Given the description of an element on the screen output the (x, y) to click on. 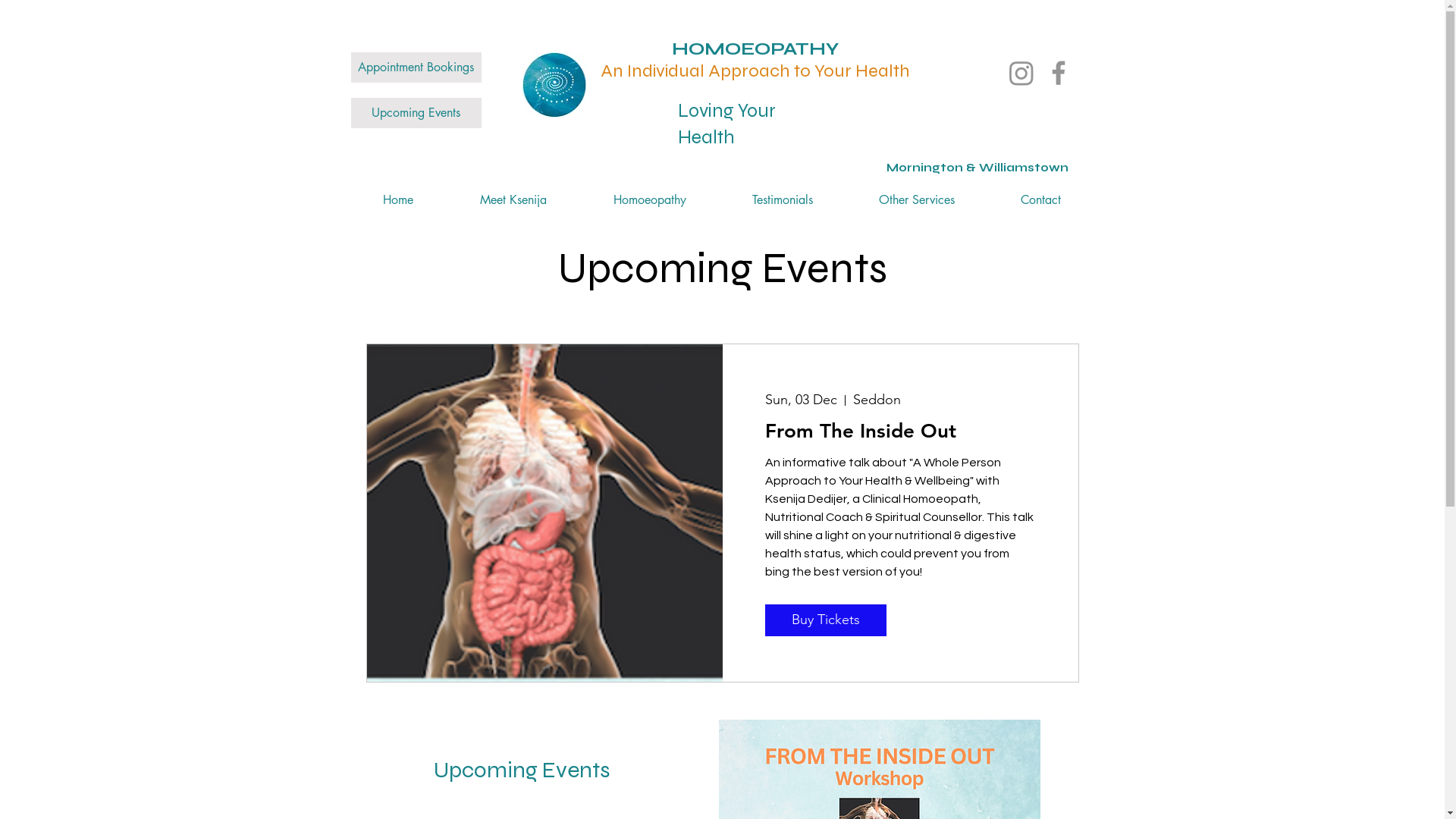
Contact Element type: text (1040, 199)
Appointment Bookings Element type: text (415, 67)
From The Inside Out Element type: text (900, 430)
Upcoming Events Element type: text (415, 112)
Home Element type: text (396, 199)
Testimonials Element type: text (781, 199)
Meet Ksenija Element type: text (512, 199)
Other Services Element type: text (917, 199)
Buy Tickets Element type: text (825, 620)
Homoeopathy Element type: text (648, 199)
